Given the description of an element on the screen output the (x, y) to click on. 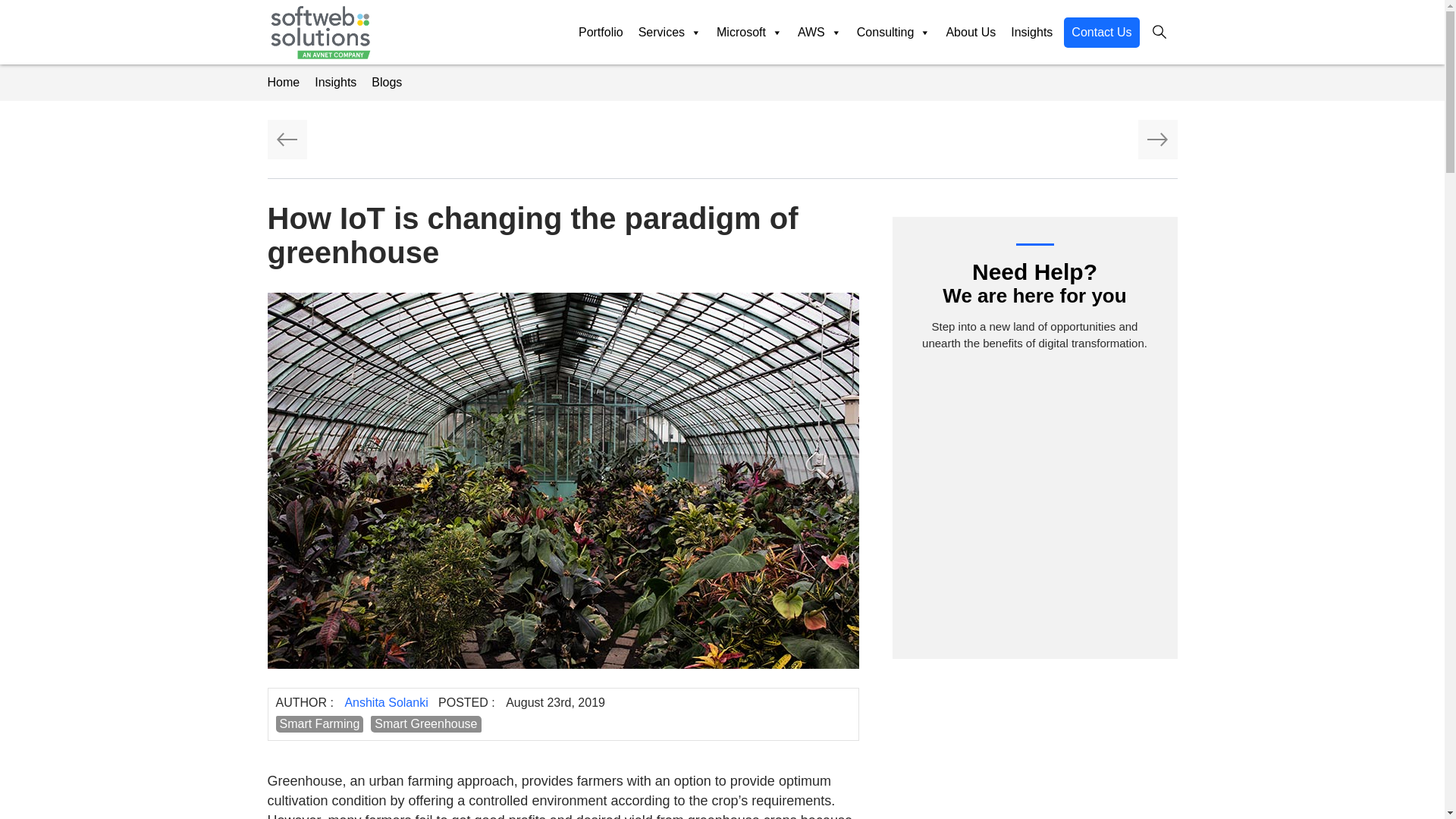
Services (669, 32)
Portfolio (600, 32)
search (1159, 31)
